Given the description of an element on the screen output the (x, y) to click on. 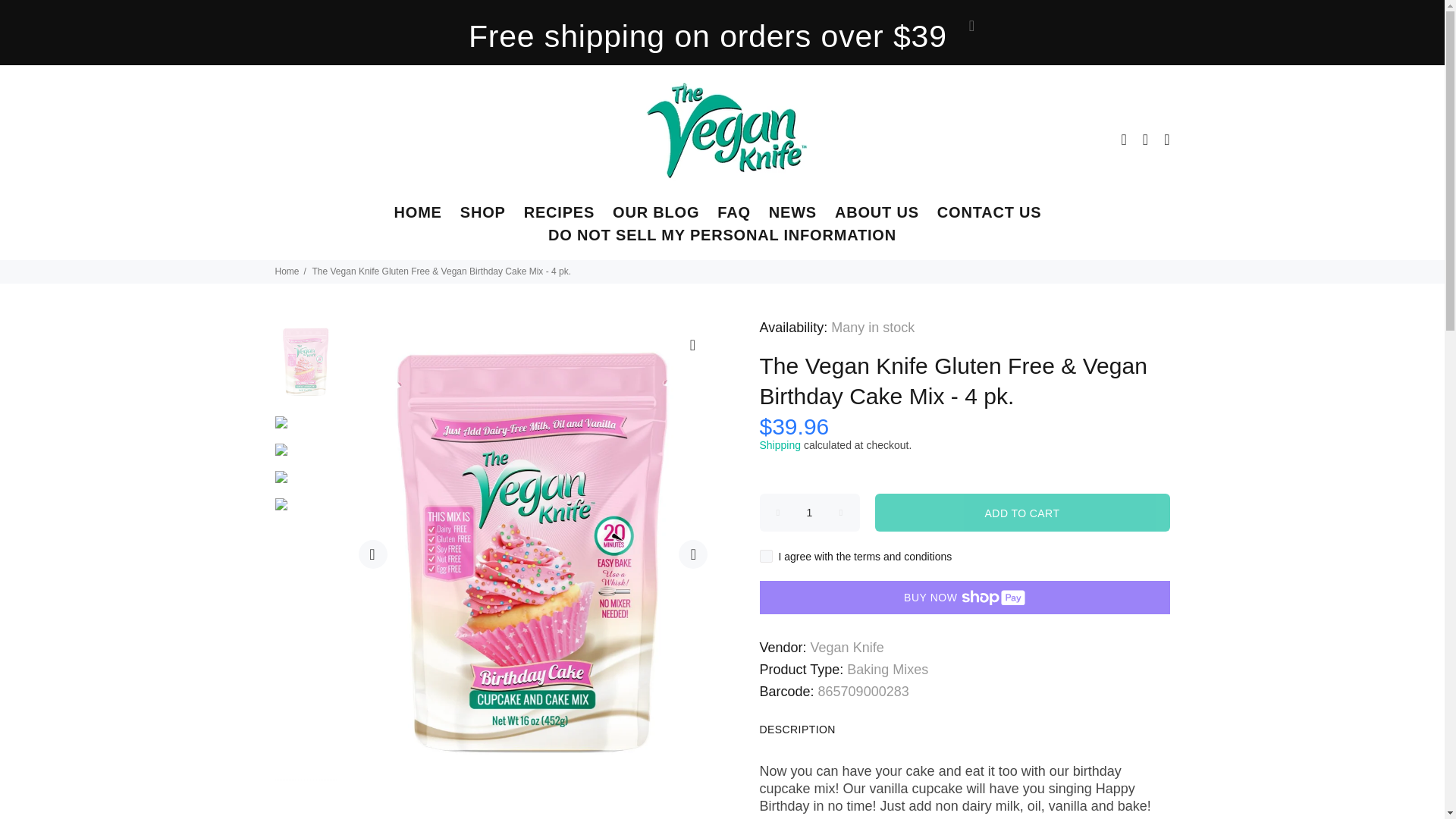
SHOP (483, 214)
RECIPES (559, 214)
HOME (418, 214)
FAQ (733, 214)
1 (810, 512)
OUR BLOG (655, 214)
